Given the description of an element on the screen output the (x, y) to click on. 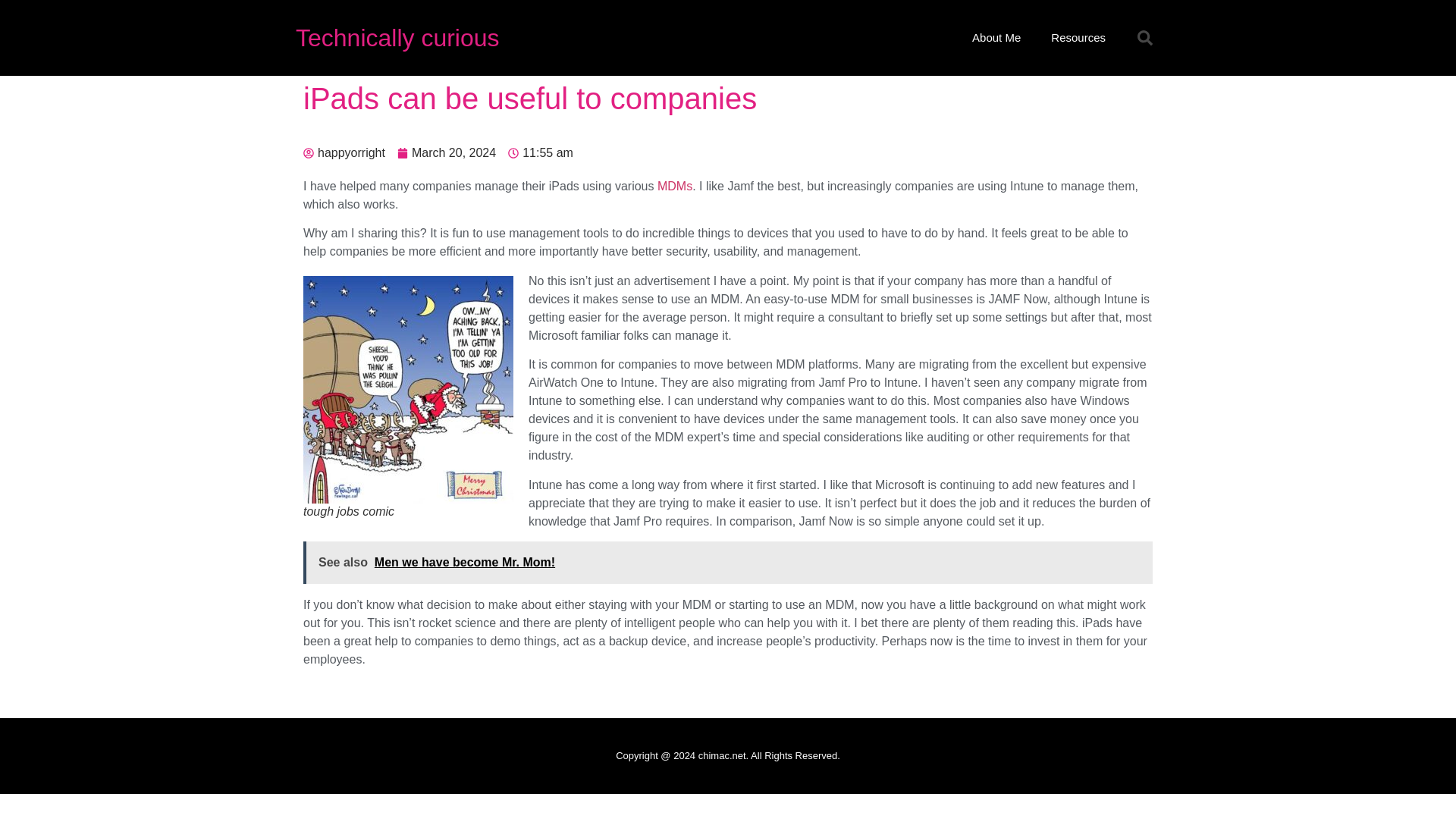
tough jobs comic (407, 389)
Technically curious (397, 37)
happyorright (343, 153)
See also  Men we have become Mr. Mom! (727, 562)
Resources (1078, 38)
March 20, 2024 (446, 153)
About Me (995, 38)
MDMs (675, 185)
